Given the description of an element on the screen output the (x, y) to click on. 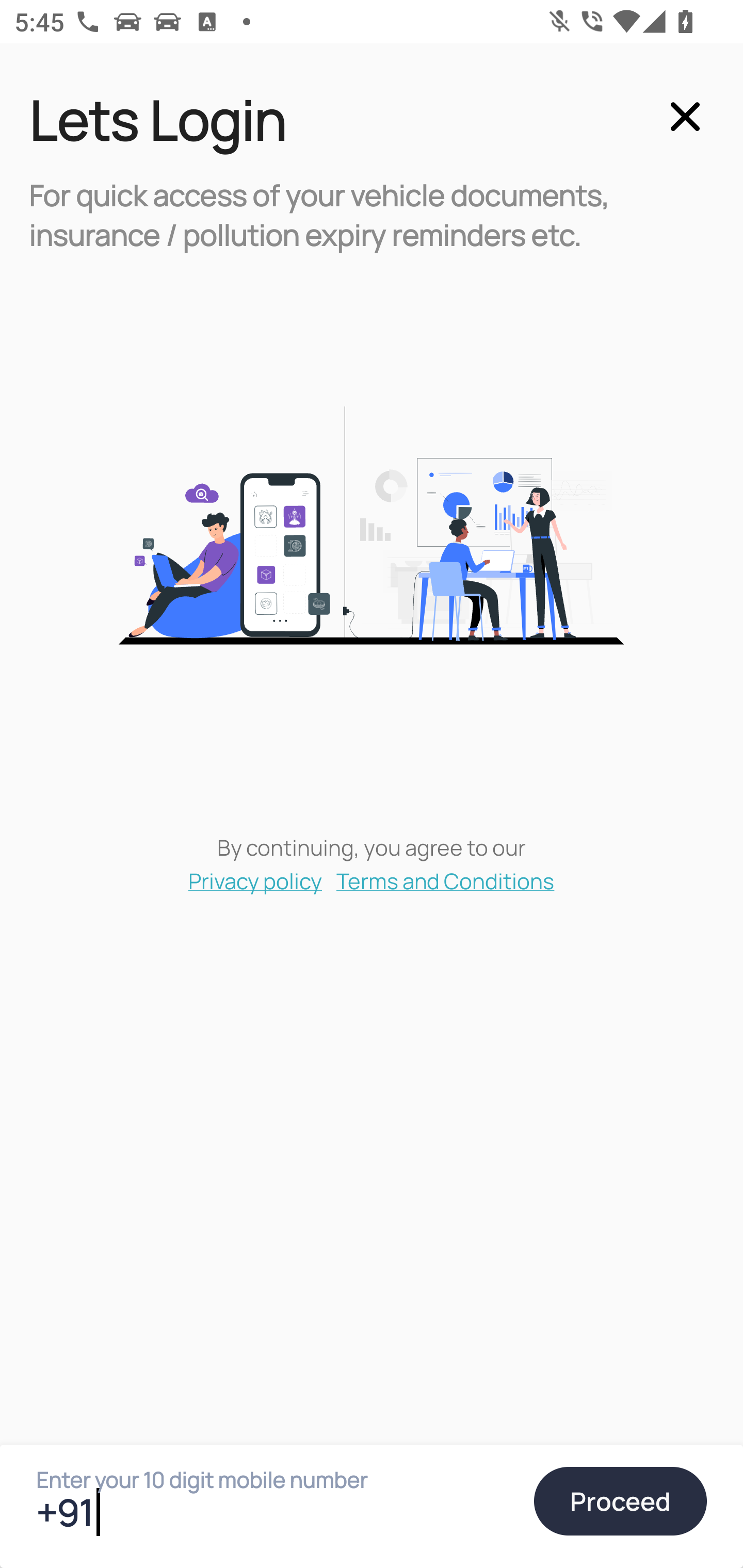
Privacy policy (254, 880)
Terms and Conditions (445, 880)
Proceed (620, 1501)
Enter your 10 digit mobile number (275, 1512)
